Given the description of an element on the screen output the (x, y) to click on. 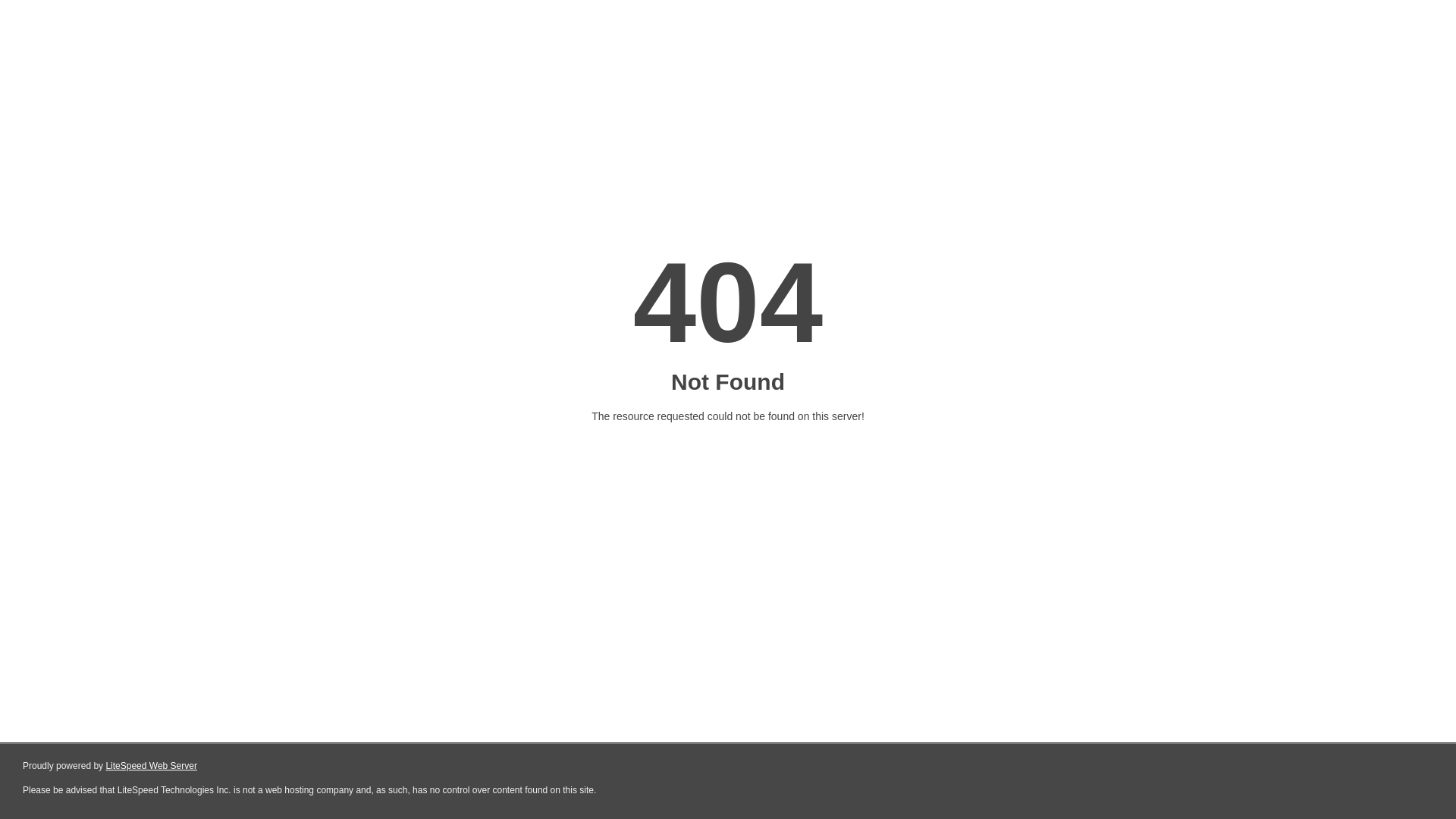
LiteSpeed Web Server Element type: text (151, 765)
